Given the description of an element on the screen output the (x, y) to click on. 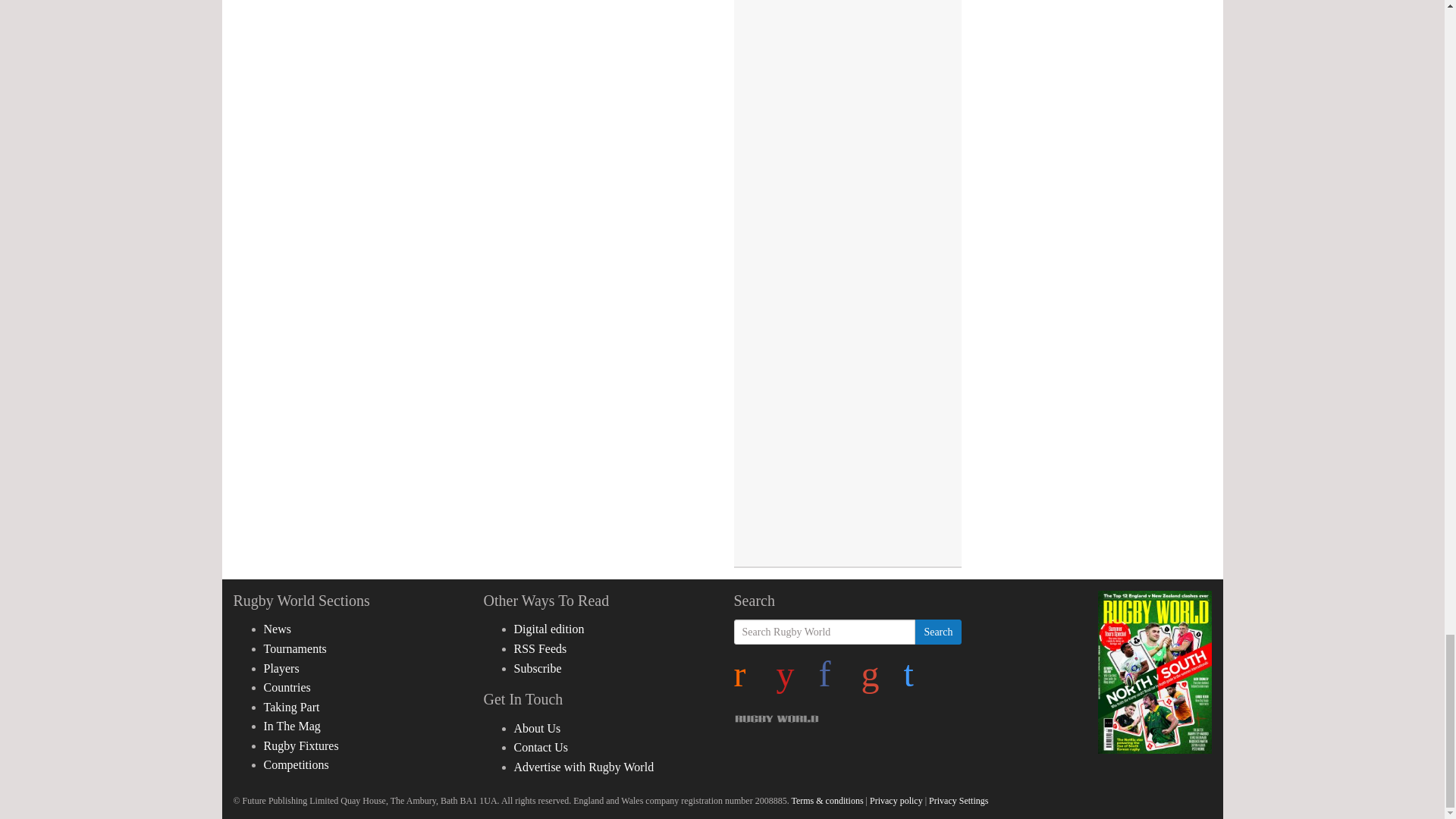
Latest Issue of Rugby World (1154, 671)
